Given the description of an element on the screen output the (x, y) to click on. 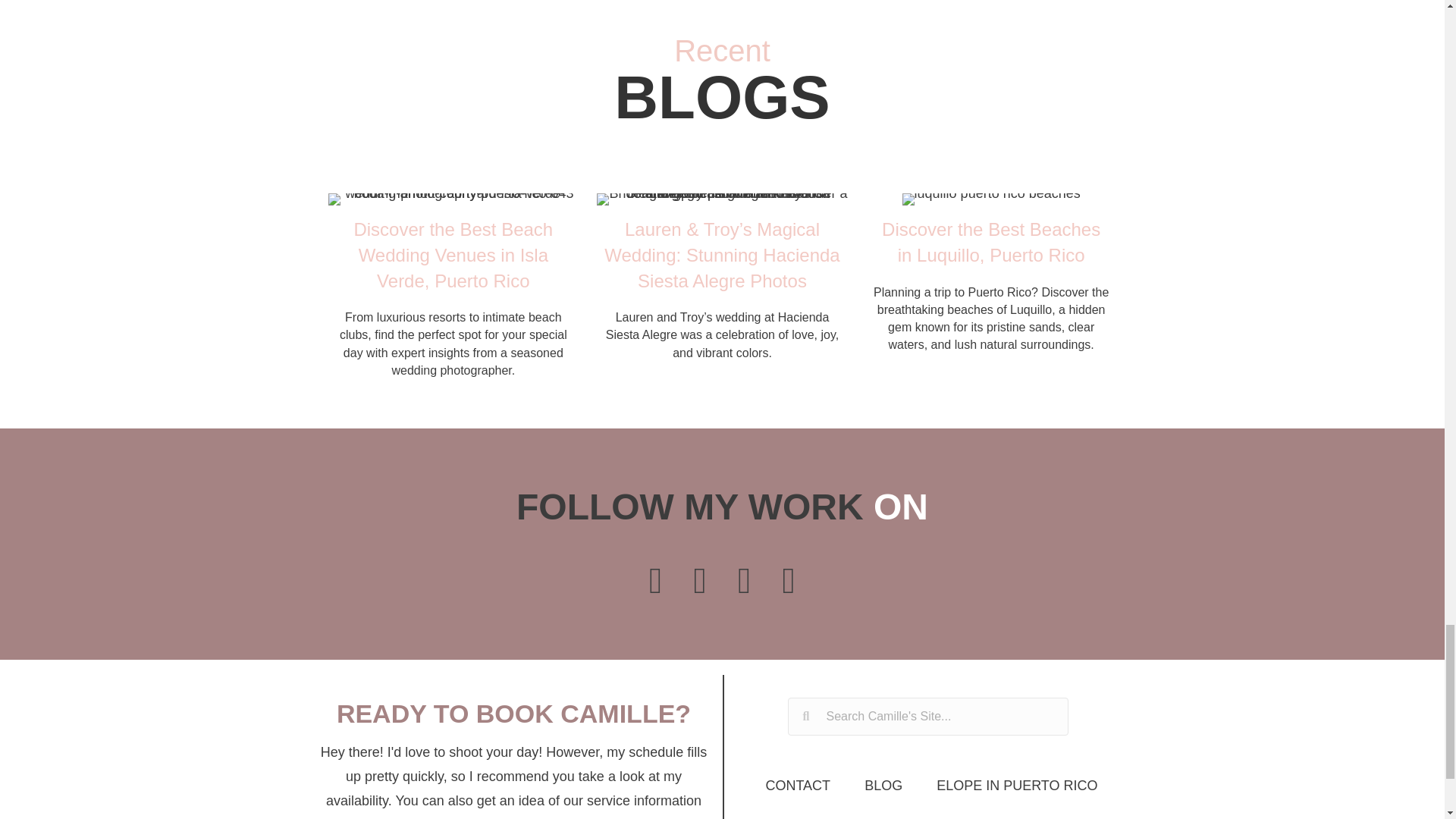
luquillo puerto rico beaches (991, 199)
ELOPE IN PUERTO RICO (1016, 785)
BLOG (883, 785)
Discover the Best Beaches in Luquillo, Puerto Rico (991, 291)
CONTACT (797, 785)
